Given the description of an element on the screen output the (x, y) to click on. 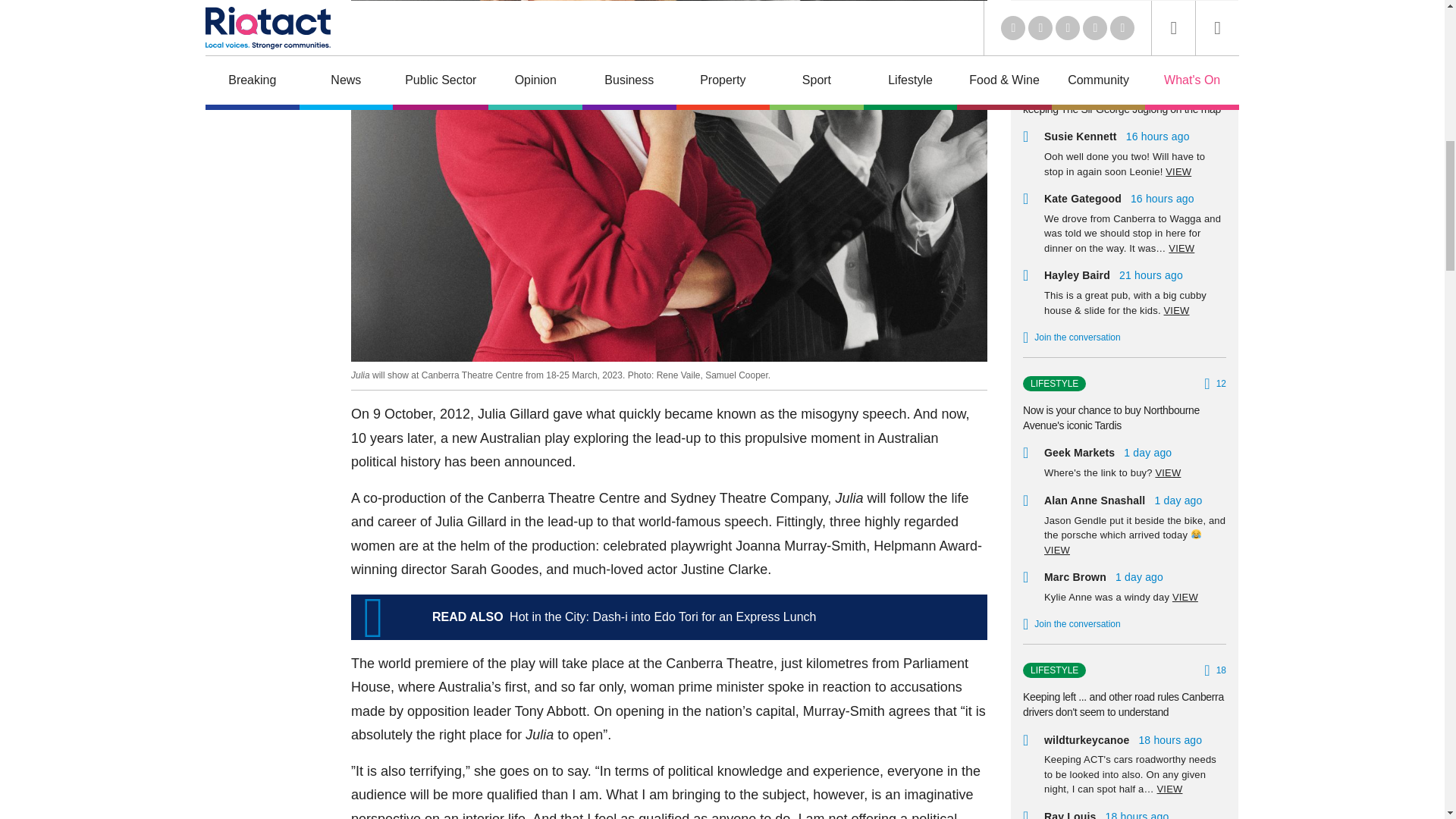
3rd party ad content (265, 33)
